Given the description of an element on the screen output the (x, y) to click on. 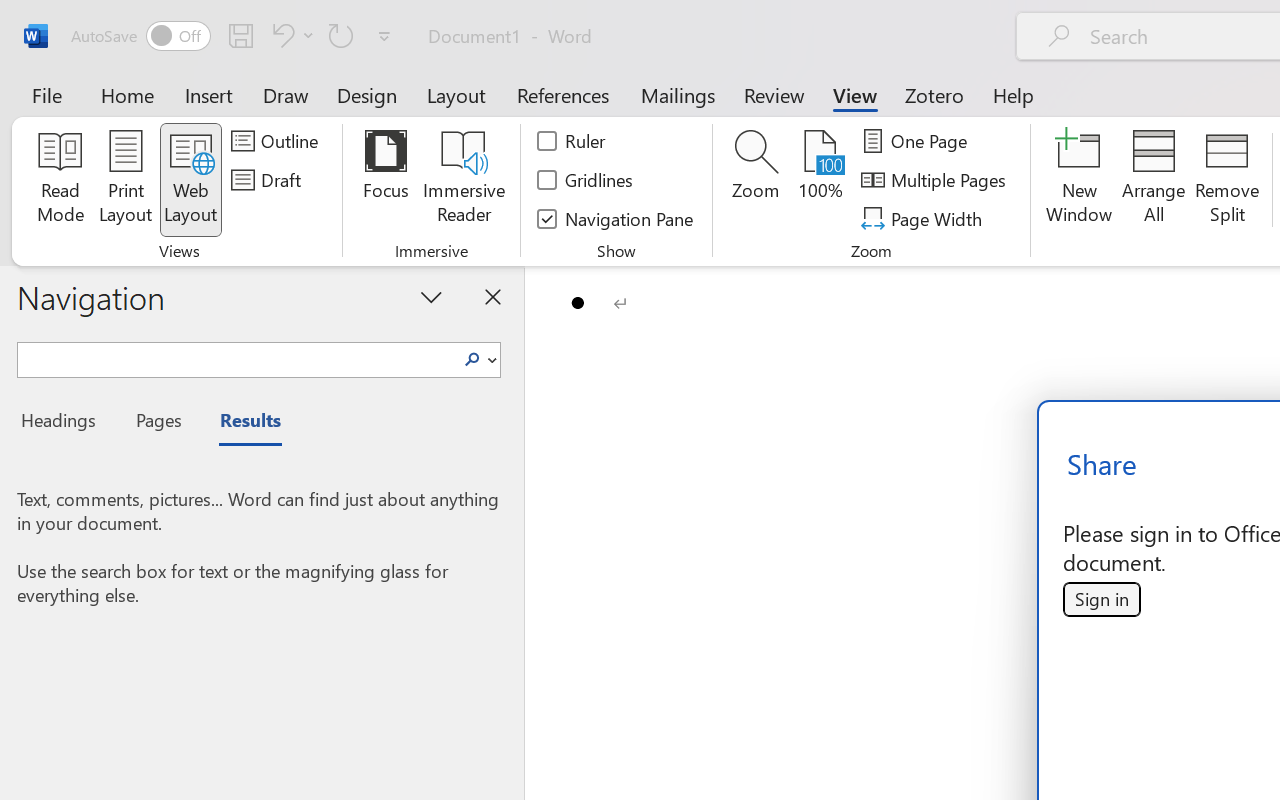
Multiple Pages (936, 179)
Undo Bullet Default (280, 35)
Ruler (572, 141)
Pages (156, 423)
Gridlines (586, 179)
Undo Bullet Default (290, 35)
Navigation Pane (616, 218)
Headings (64, 423)
Search document (236, 357)
